Given the description of an element on the screen output the (x, y) to click on. 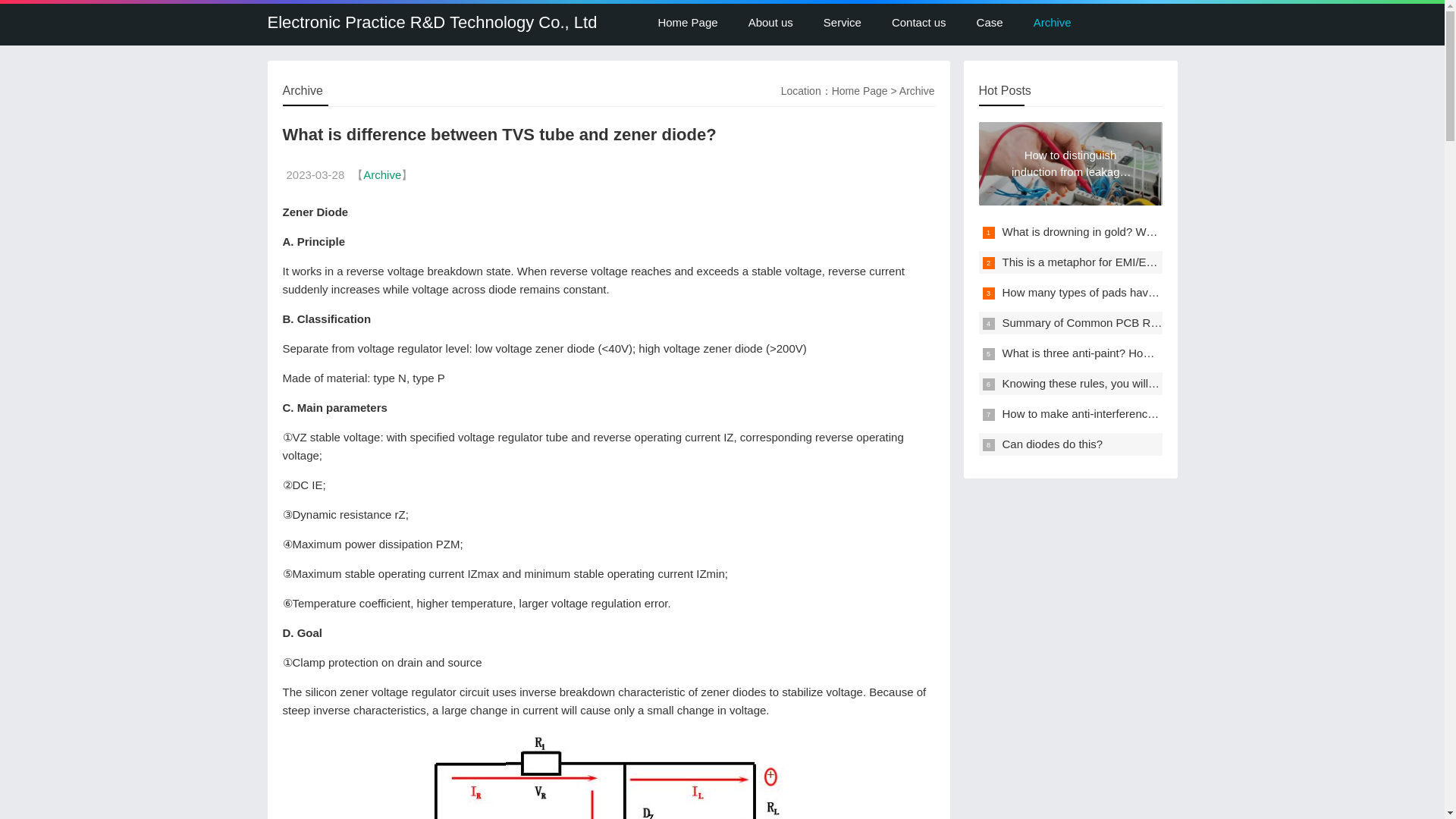
Archive (1051, 22)
Archive (381, 174)
How many types of pads have you seen in PCB design? (1144, 291)
What is drowning in gold? Why Shen Jin? (1107, 231)
What is three anti-paint? How to use it correctly? (1125, 352)
About us (770, 22)
Home Page (859, 91)
Case (988, 22)
Home Page (687, 22)
